Given the description of an element on the screen output the (x, y) to click on. 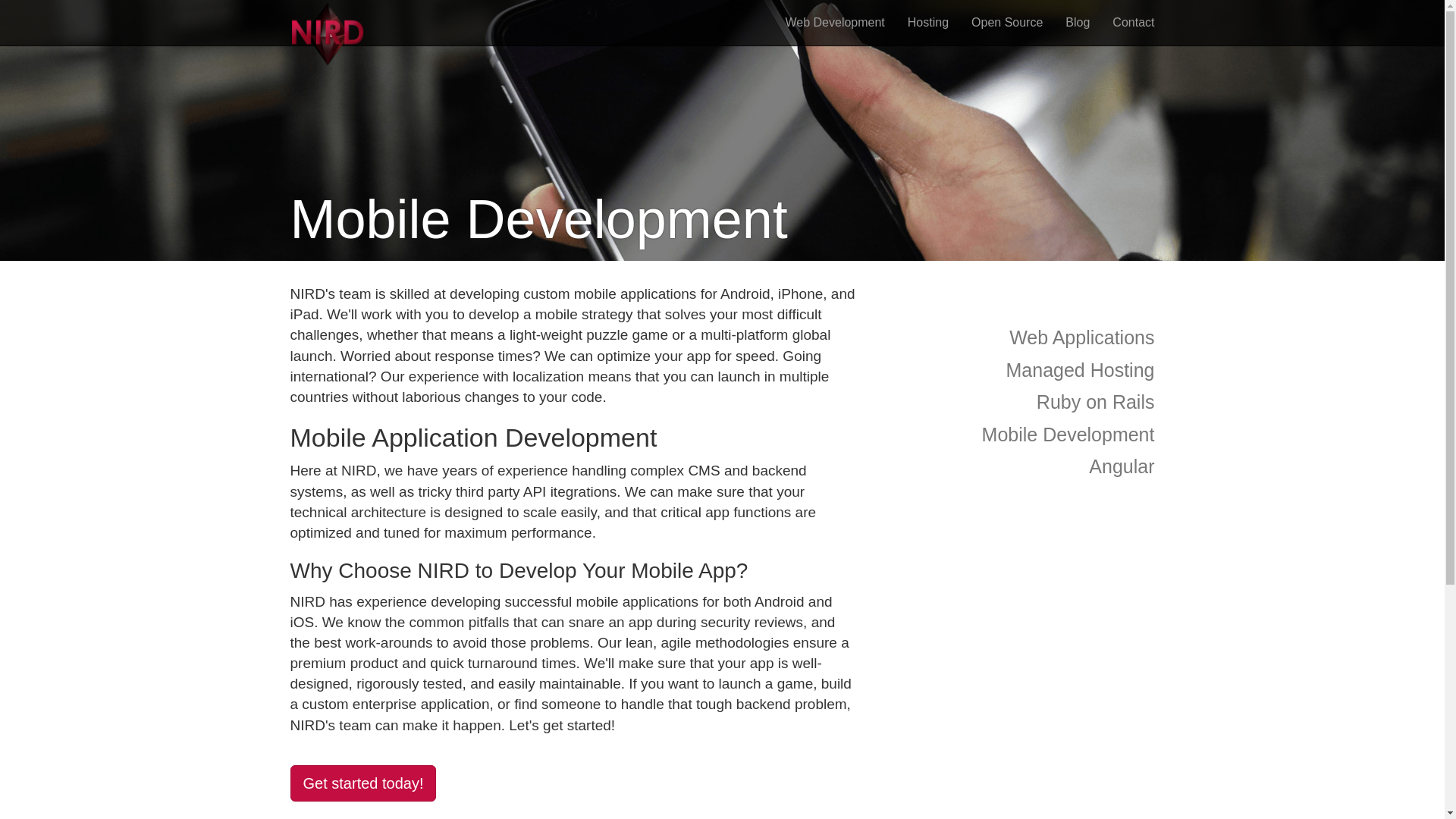
NIRD (328, 22)
Web Applications (1017, 337)
Mobile Development (1017, 434)
Web Development (834, 22)
Angular (1017, 466)
Open Source (1006, 22)
Contact (1133, 22)
Get started today! (362, 783)
Ruby on Rails (1017, 401)
Managed Hosting (1017, 369)
Blog (1077, 22)
Hosting (927, 22)
